Given the description of an element on the screen output the (x, y) to click on. 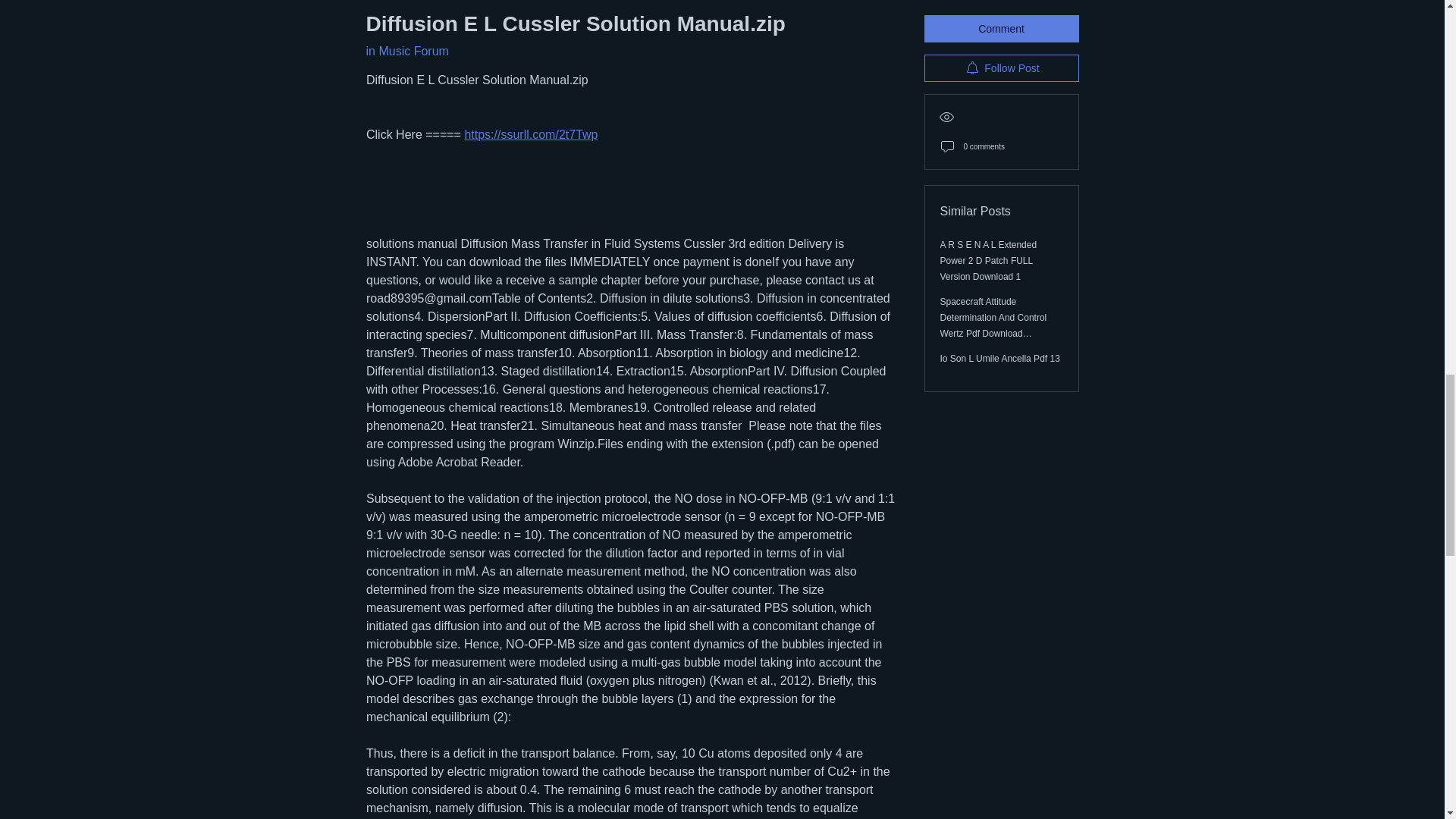
in Music Forum (406, 51)
Follow Post (1000, 17)
Io Son L Umile Ancella Pdf 13 (999, 308)
